Given the description of an element on the screen output the (x, y) to click on. 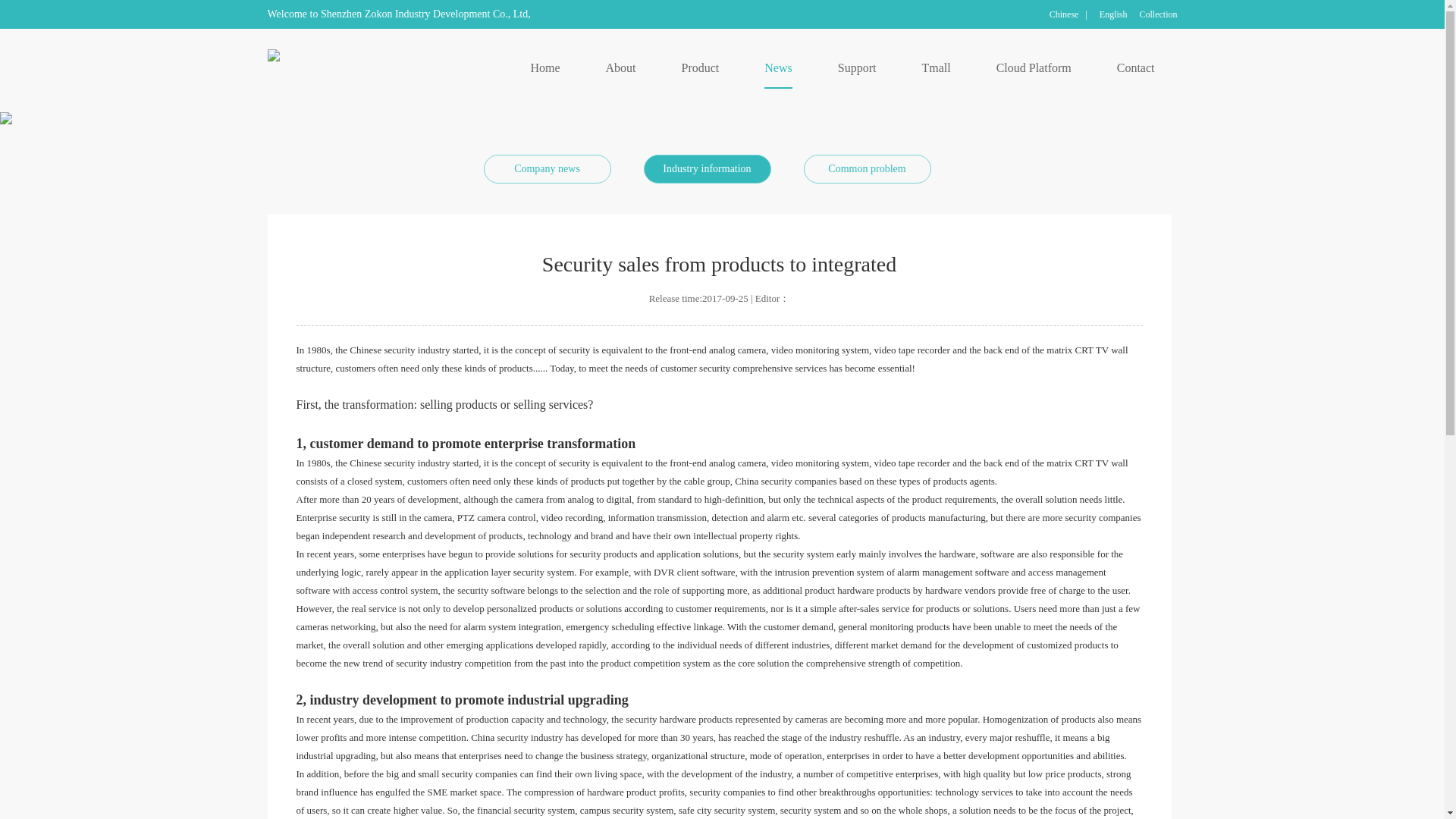
Collection (1157, 14)
Support (857, 68)
Product (700, 68)
English (1112, 14)
Contact (1135, 68)
Cloud Platform (1033, 68)
